Given the description of an element on the screen output the (x, y) to click on. 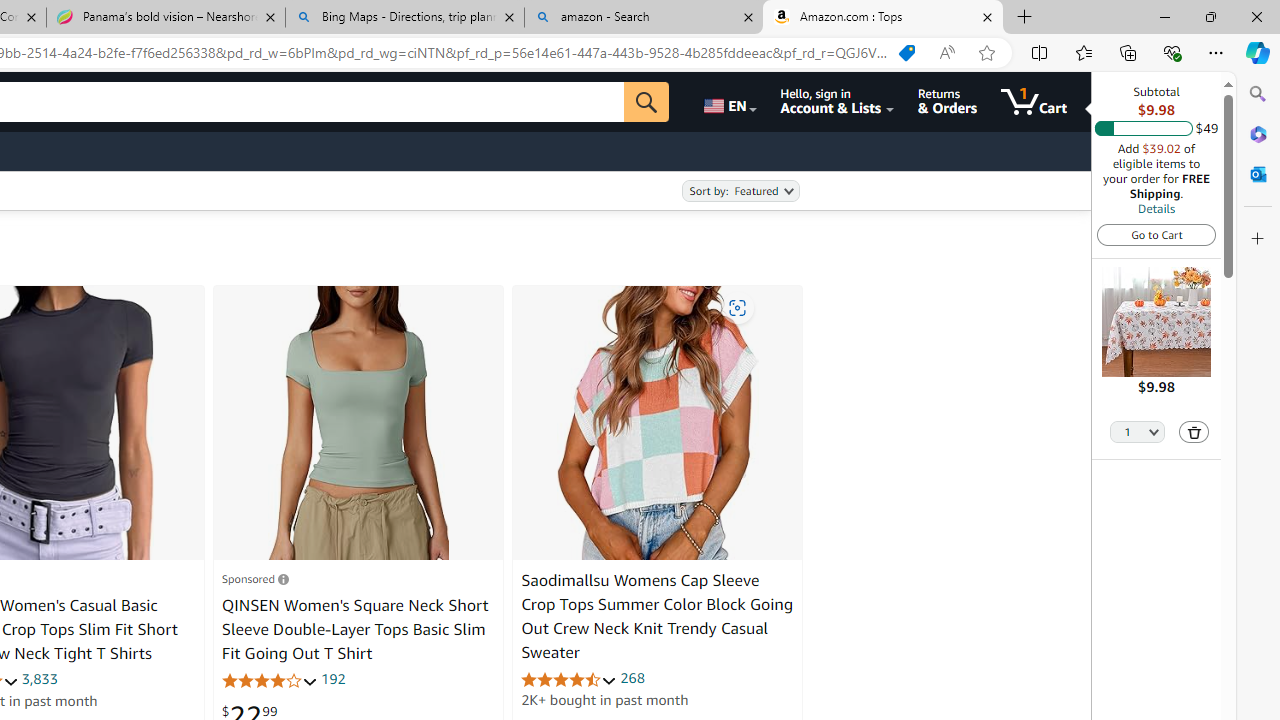
Details (1156, 208)
Go to Cart (1156, 234)
4.4 out of 5 stars (569, 678)
4.2 out of 5 stars (269, 680)
View Sponsored information or leave ad feedback (255, 578)
Delete (1194, 431)
Go (646, 101)
3,833 (38, 678)
Choose a language for shopping. (728, 101)
